Given the description of an element on the screen output the (x, y) to click on. 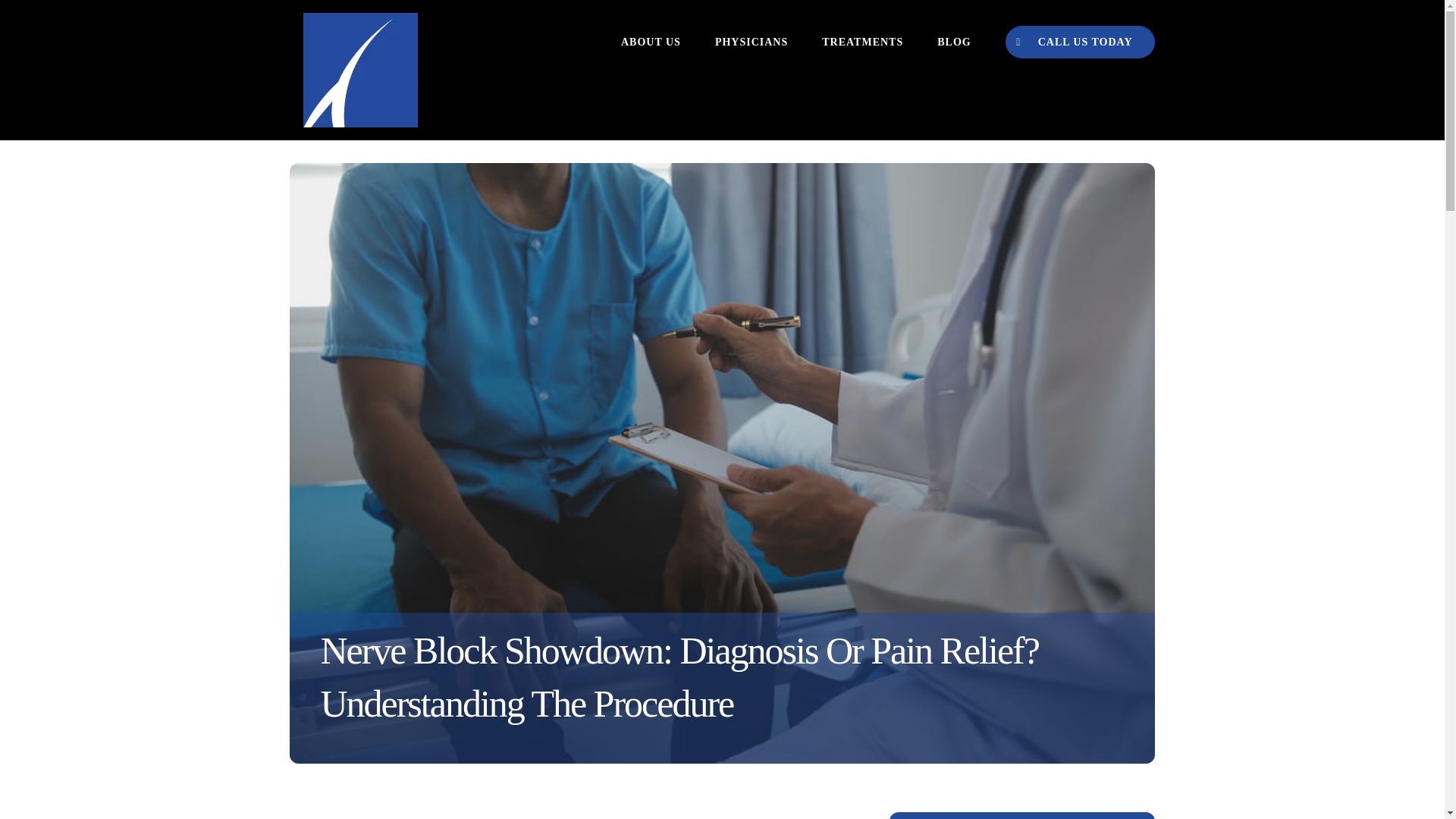
BLOG (954, 42)
ABOUT US (651, 42)
PHYSICIANS (750, 42)
TREATMENTS (862, 42)
CALL US TODAY (1080, 42)
